Given the description of an element on the screen output the (x, y) to click on. 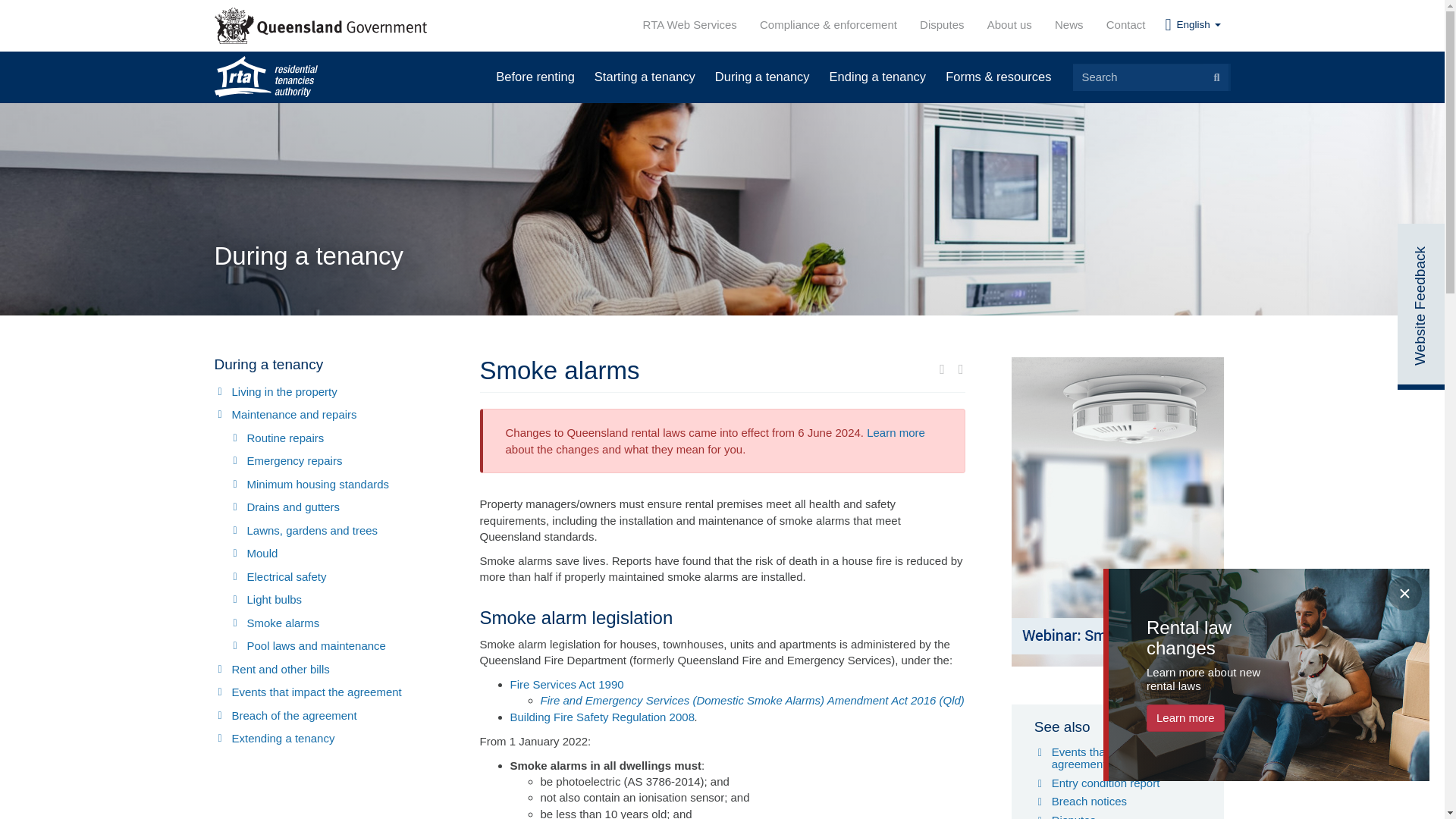
Starting a tenancy (644, 76)
Home (265, 77)
Maintenance and repairs (326, 414)
English (1192, 24)
RTA Web Services (689, 25)
Disputes (942, 25)
Ending a tenancy (877, 76)
Contact (1126, 25)
Living in the property (326, 392)
Ongoing rental law changes (895, 431)
Before renting (535, 76)
Search (1216, 76)
During a tenancy (761, 76)
About us (1009, 25)
News (1069, 25)
